Given the description of an element on the screen output the (x, y) to click on. 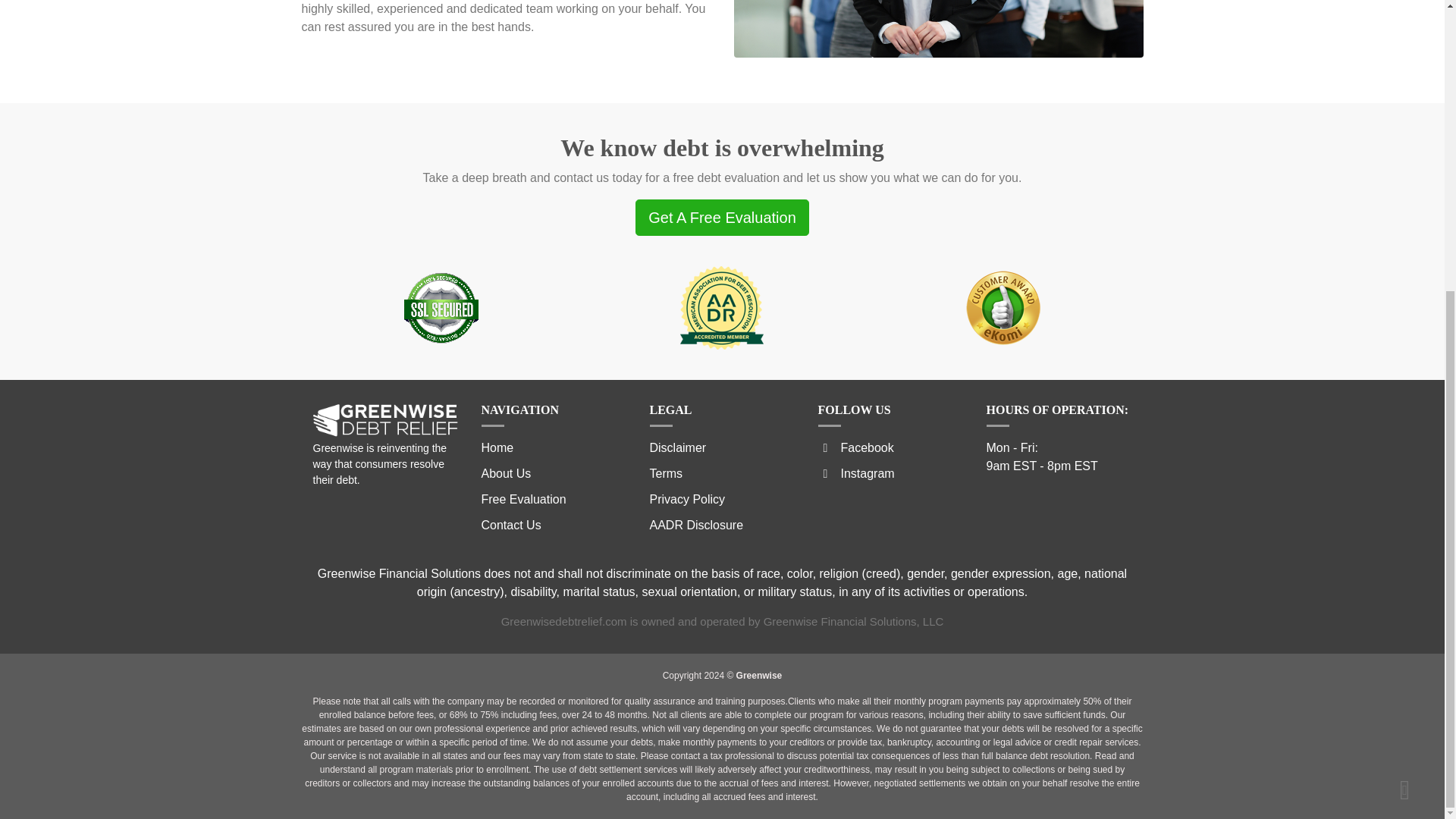
Disclaimer (677, 447)
Privacy Policy (687, 499)
Instagram (854, 472)
About Us (505, 472)
Facebook (854, 447)
Get A Free Evaluation (721, 217)
Contact Us (510, 524)
Free Evaluation (523, 499)
AADR Disclosure (695, 524)
Terms (665, 472)
Home (496, 447)
